Given the description of an element on the screen output the (x, y) to click on. 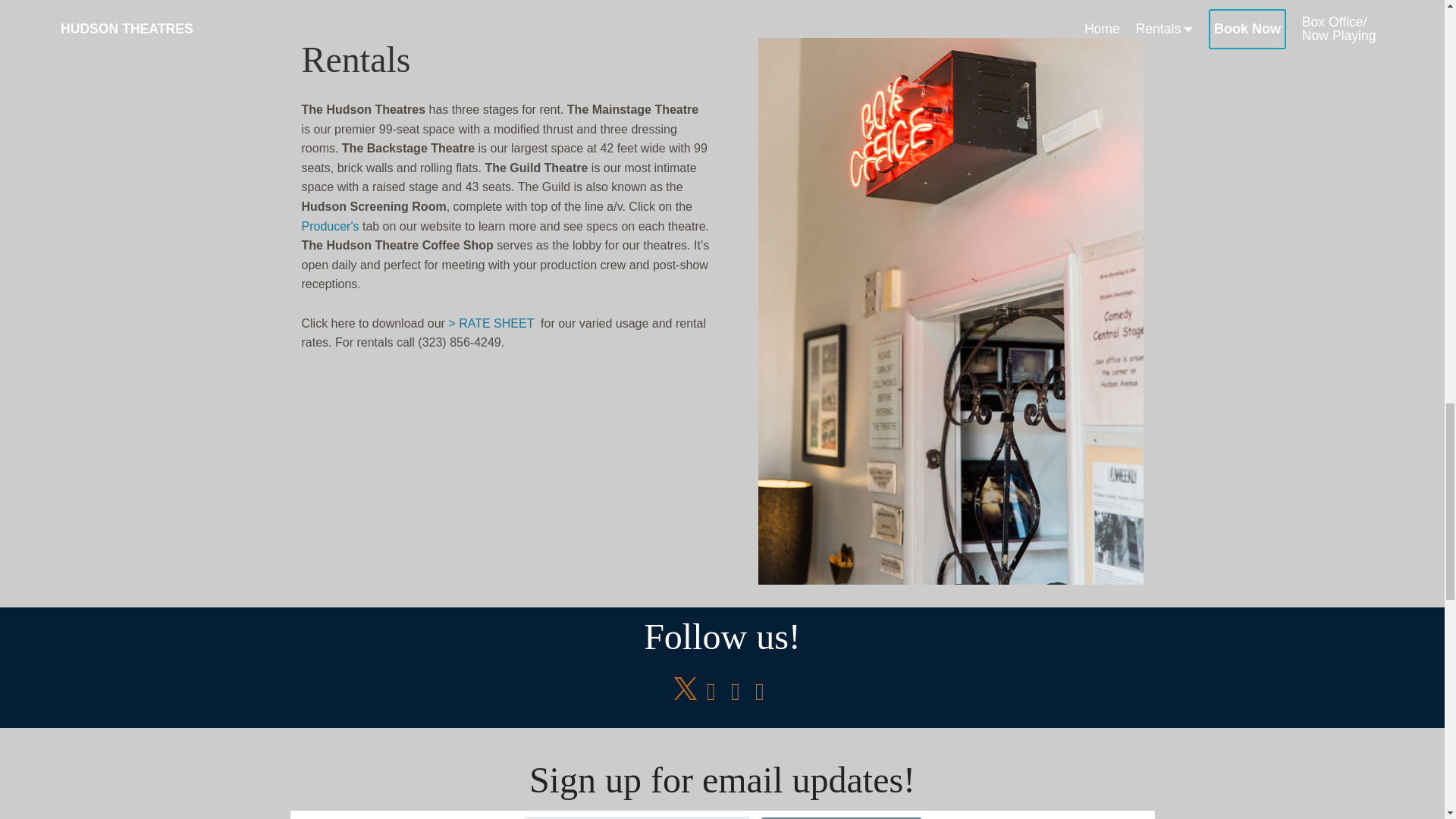
Producer's (330, 226)
Click to go to the producers page (330, 226)
